Given the description of an element on the screen output the (x, y) to click on. 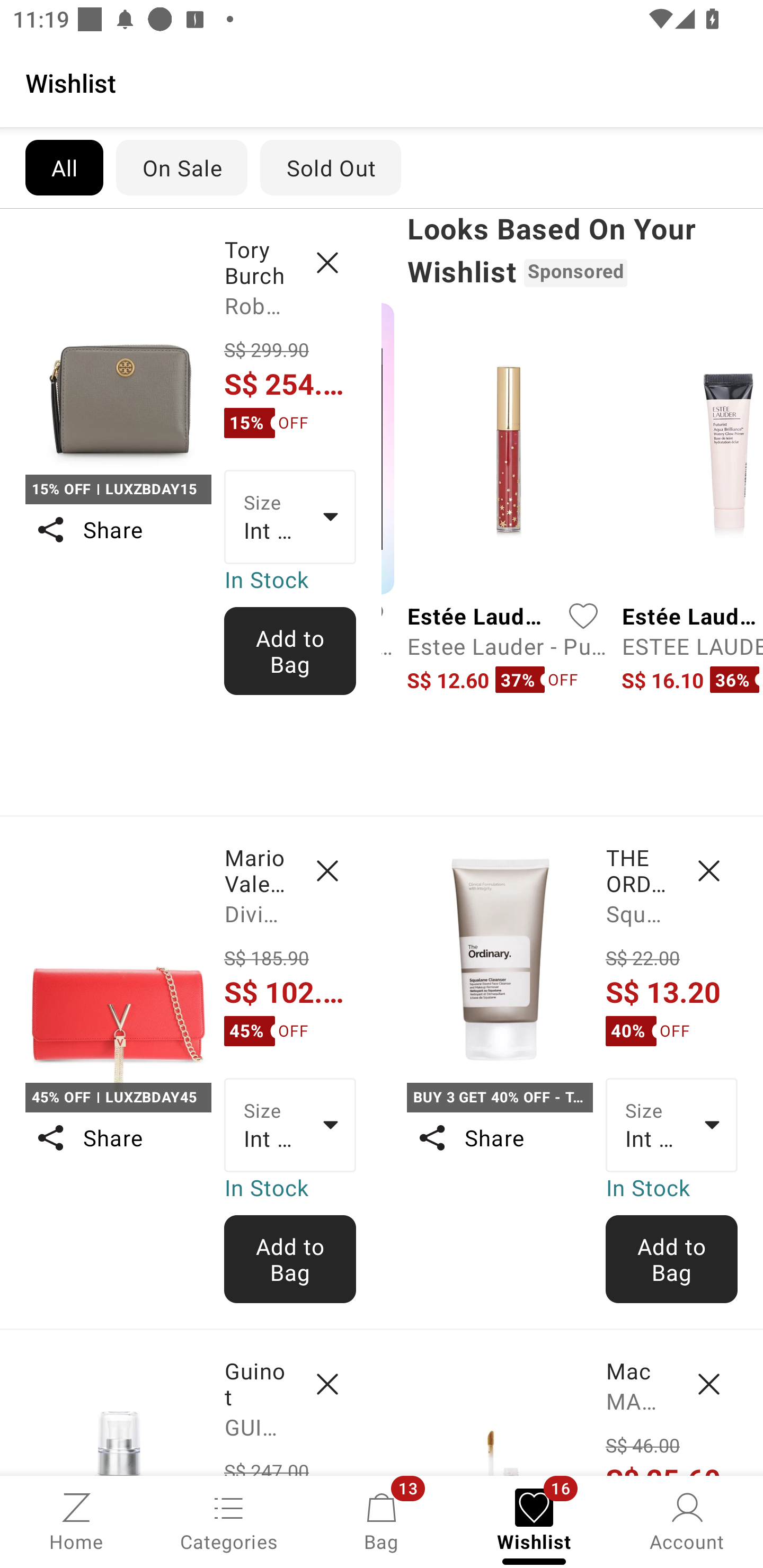
Wishlist (381, 82)
All (64, 167)
On Sale (181, 167)
Sold Out (330, 167)
Size Int One Size (290, 517)
Share (118, 529)
Add to Bag (290, 650)
Size Int One Size (290, 1125)
Size Int 50 ml (671, 1125)
Share (118, 1137)
Share (499, 1137)
Add to Bag (290, 1259)
Add to Bag (671, 1259)
Home (76, 1519)
Categories (228, 1519)
Bag, 13 new notifications Bag (381, 1519)
Account (686, 1519)
